Given the description of an element on the screen output the (x, y) to click on. 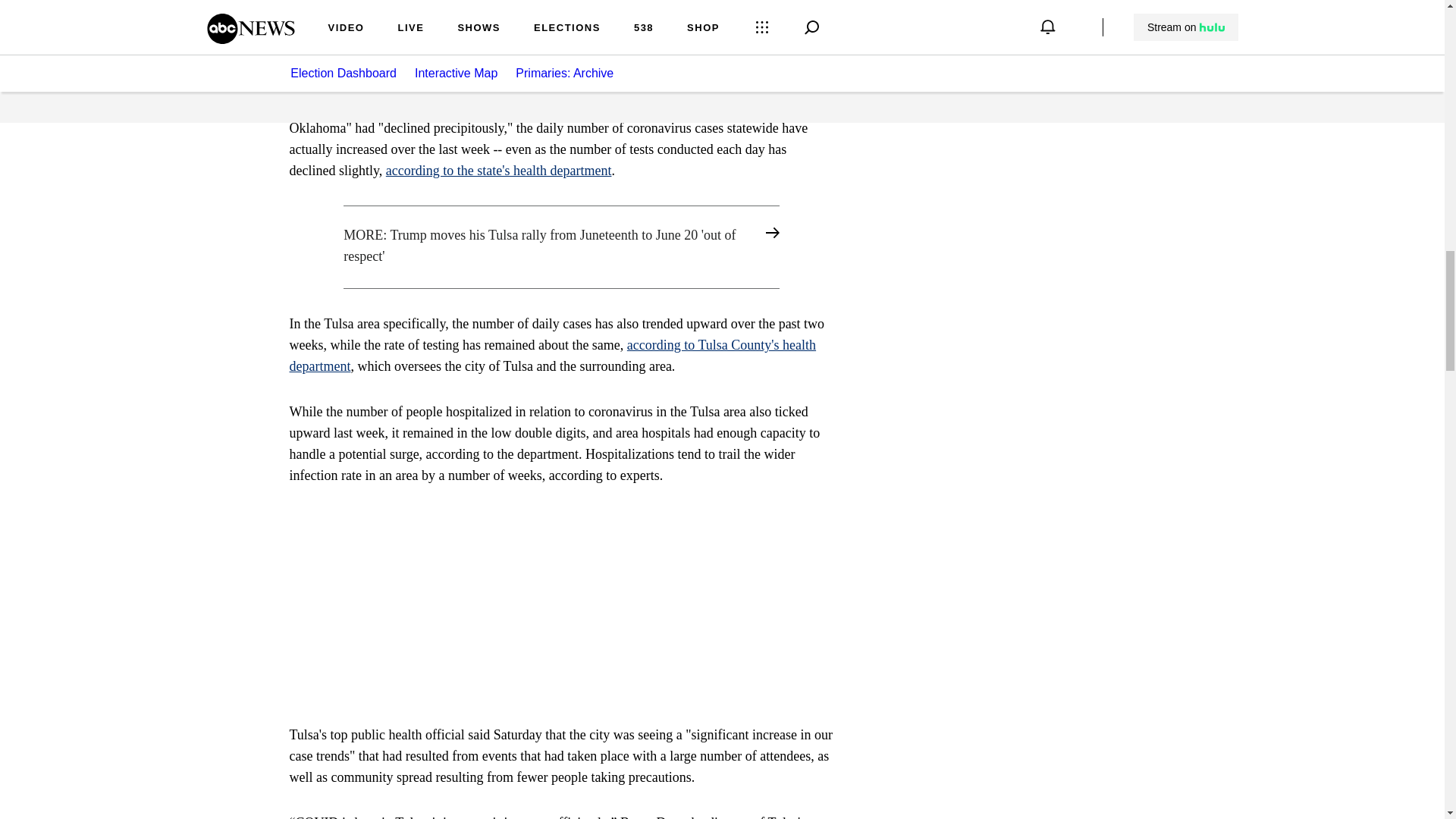
according to the state's health department (498, 170)
according to Tulsa County's health department (552, 355)
